Given the description of an element on the screen output the (x, y) to click on. 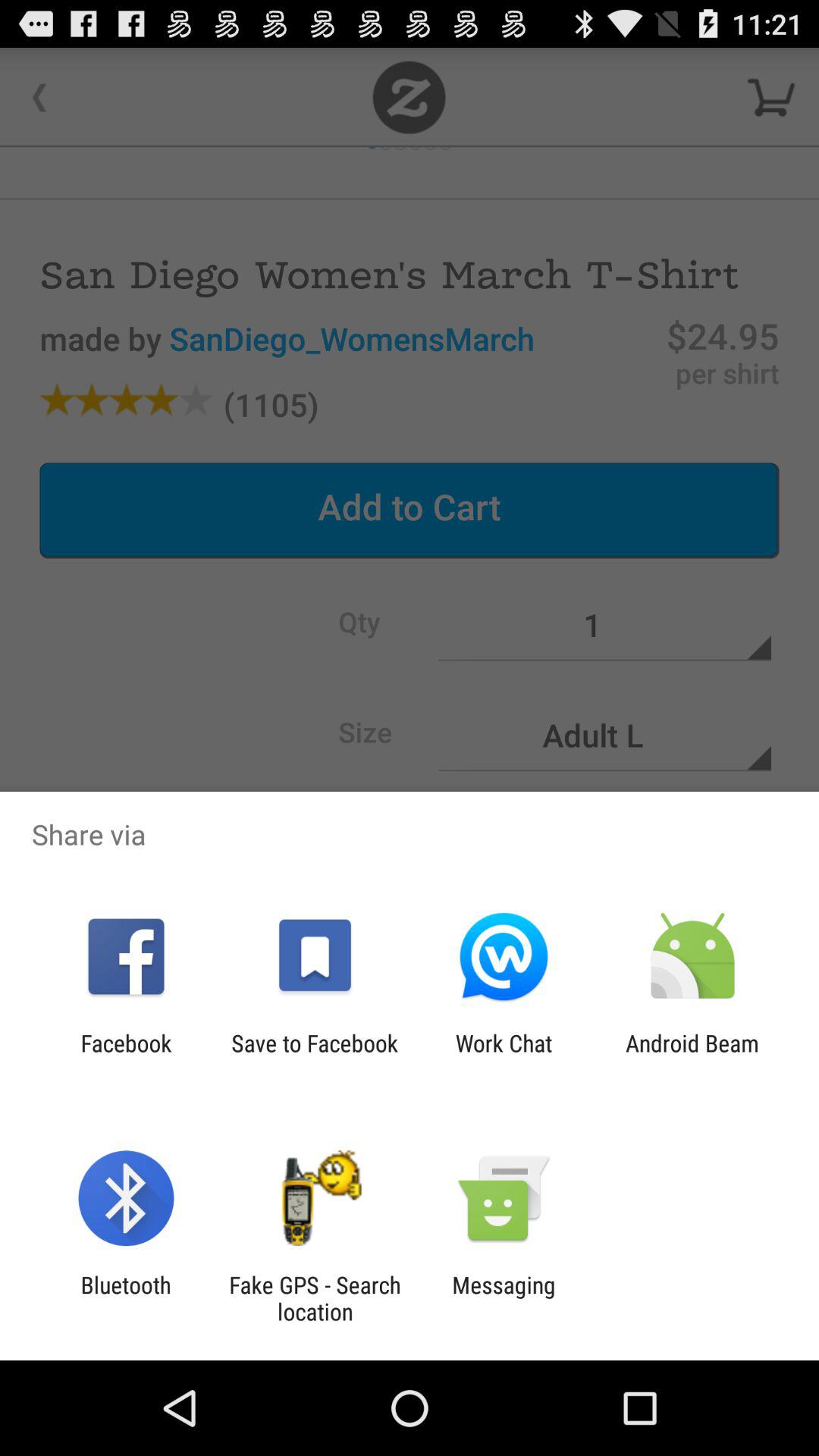
click save to facebook item (314, 1056)
